Given the description of an element on the screen output the (x, y) to click on. 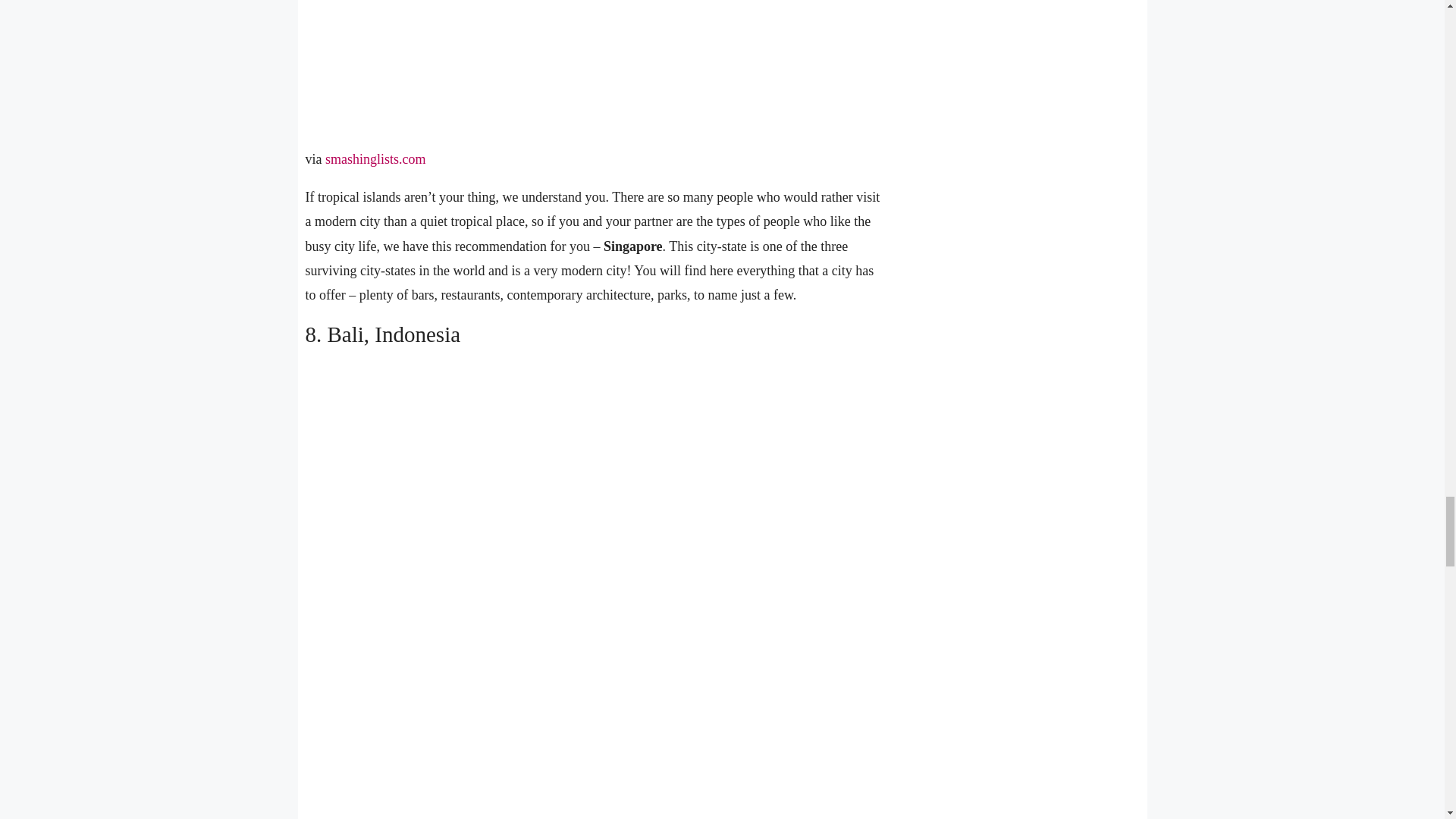
smashinglists.com (375, 159)
